Given the description of an element on the screen output the (x, y) to click on. 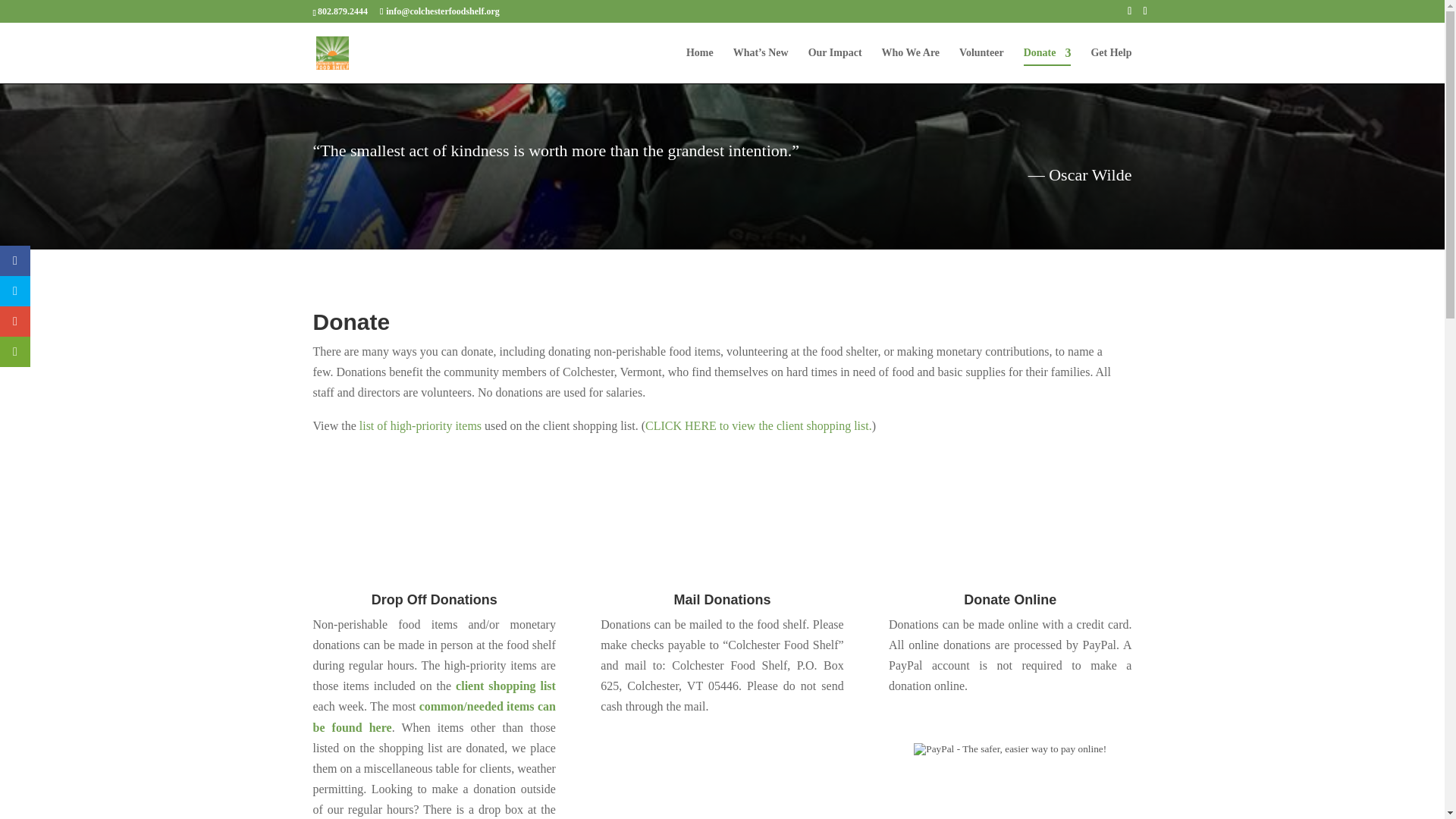
Our Impact (834, 65)
client shopping list (505, 685)
Get Help (1110, 65)
Donate (1047, 65)
CLICK HERE to view the client shopping list. (758, 425)
Who We Are (911, 65)
list of high-priority items (420, 425)
Volunteer (981, 65)
